Given the description of an element on the screen output the (x, y) to click on. 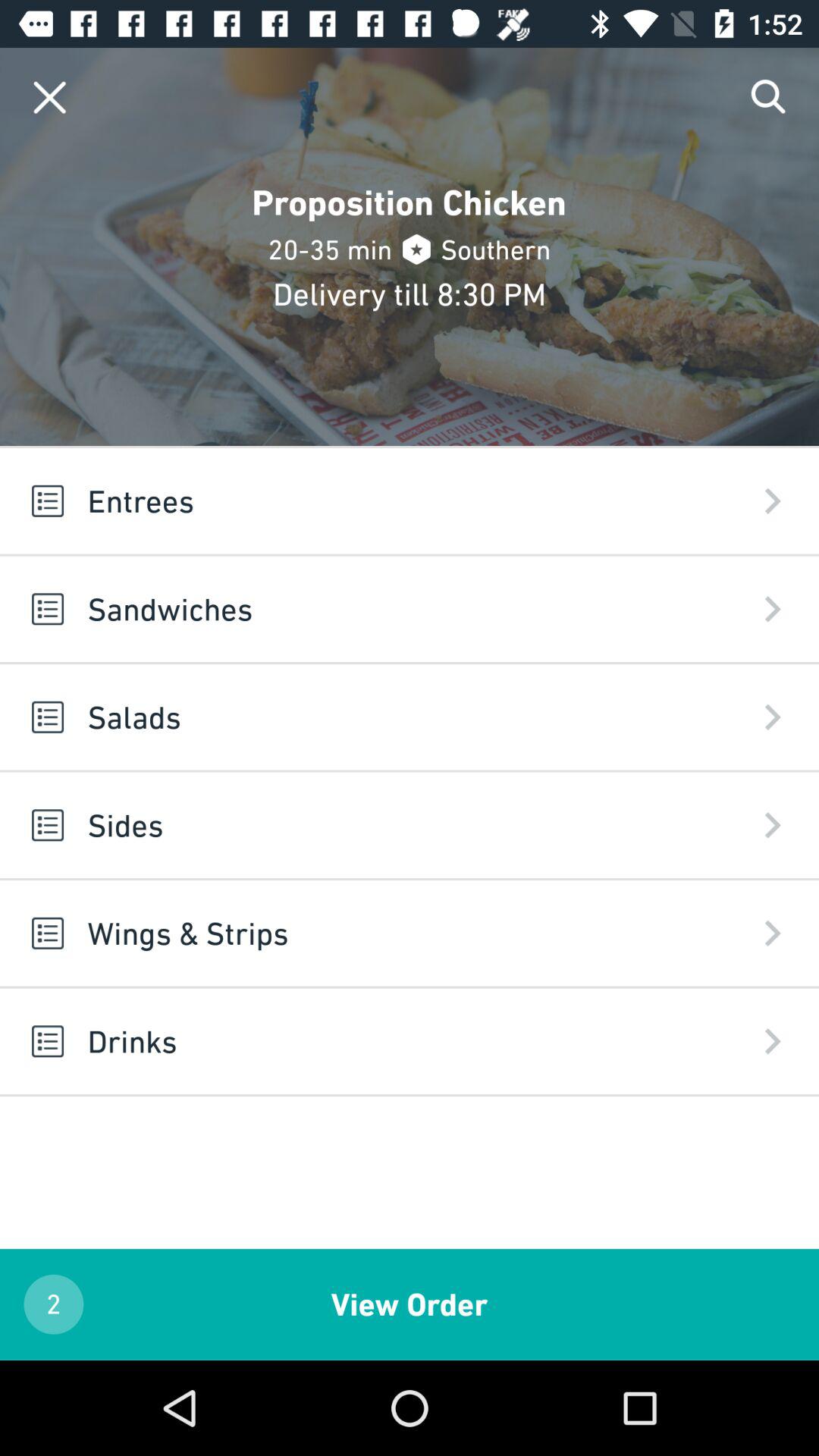
close result (49, 97)
